Given the description of an element on the screen output the (x, y) to click on. 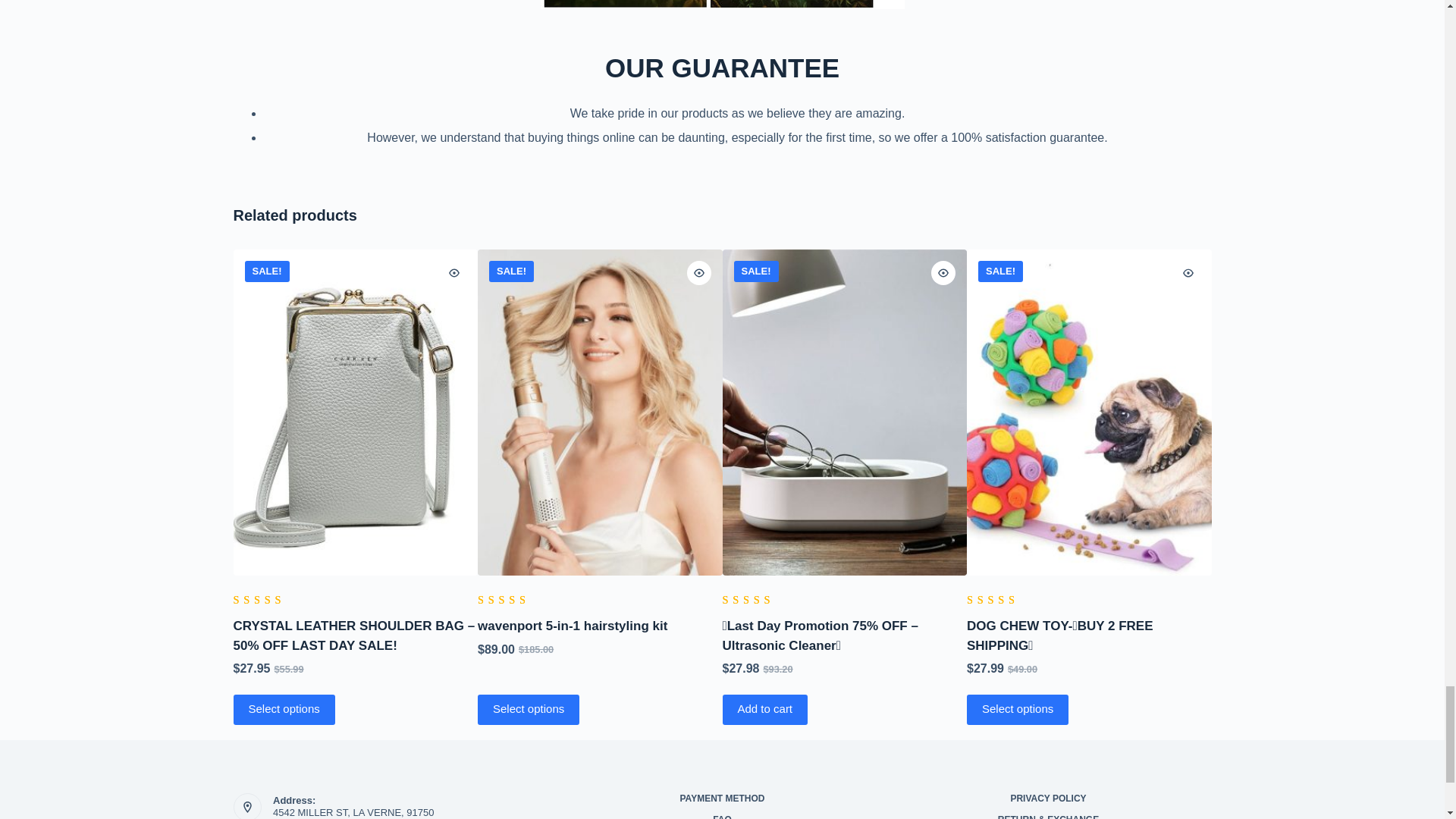
Select options (528, 709)
Select options (283, 709)
